Given the description of an element on the screen output the (x, y) to click on. 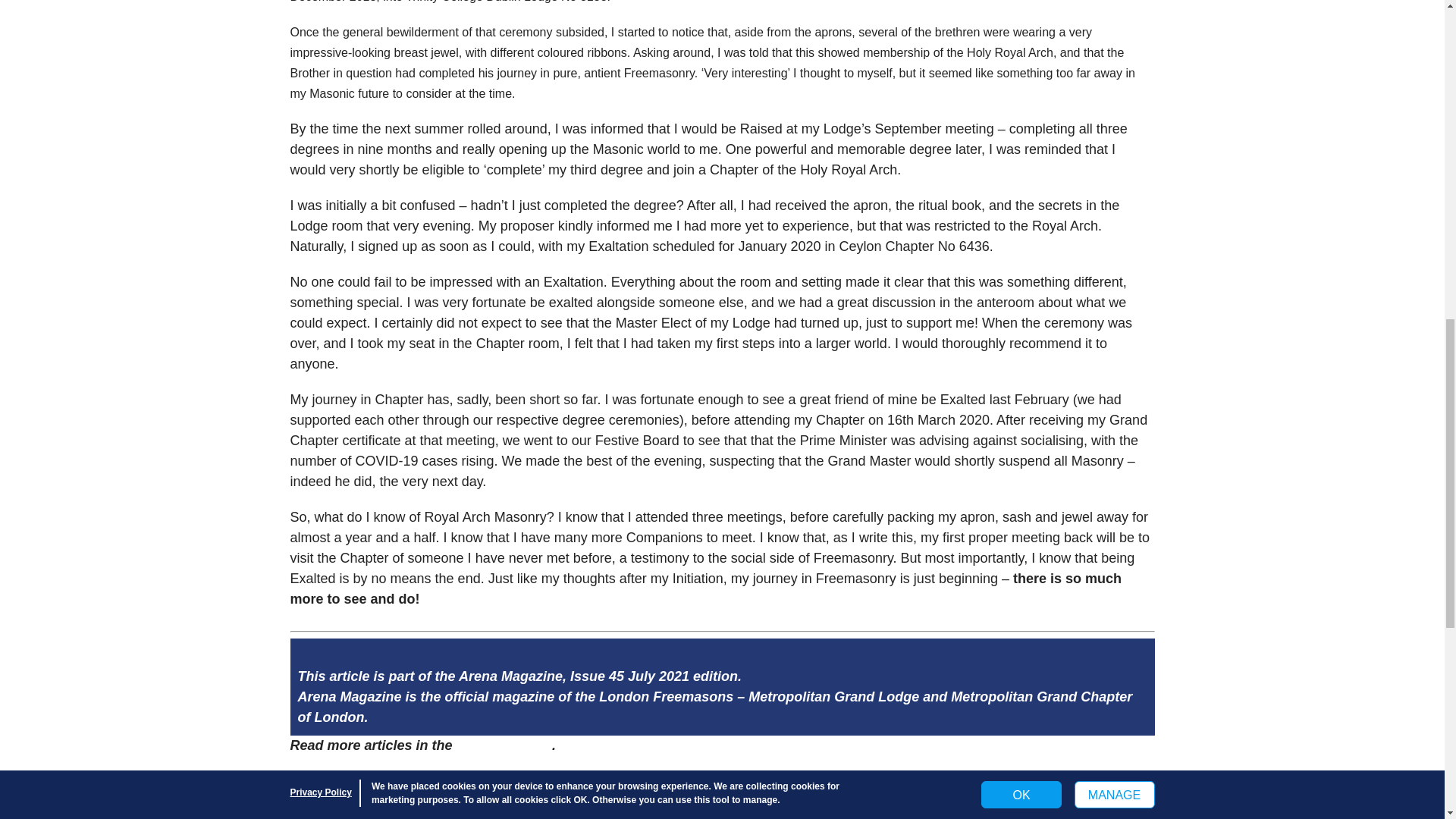
Arena Issue 45 (503, 744)
READ ARENA 45 HERE (354, 779)
